Given the description of an element on the screen output the (x, y) to click on. 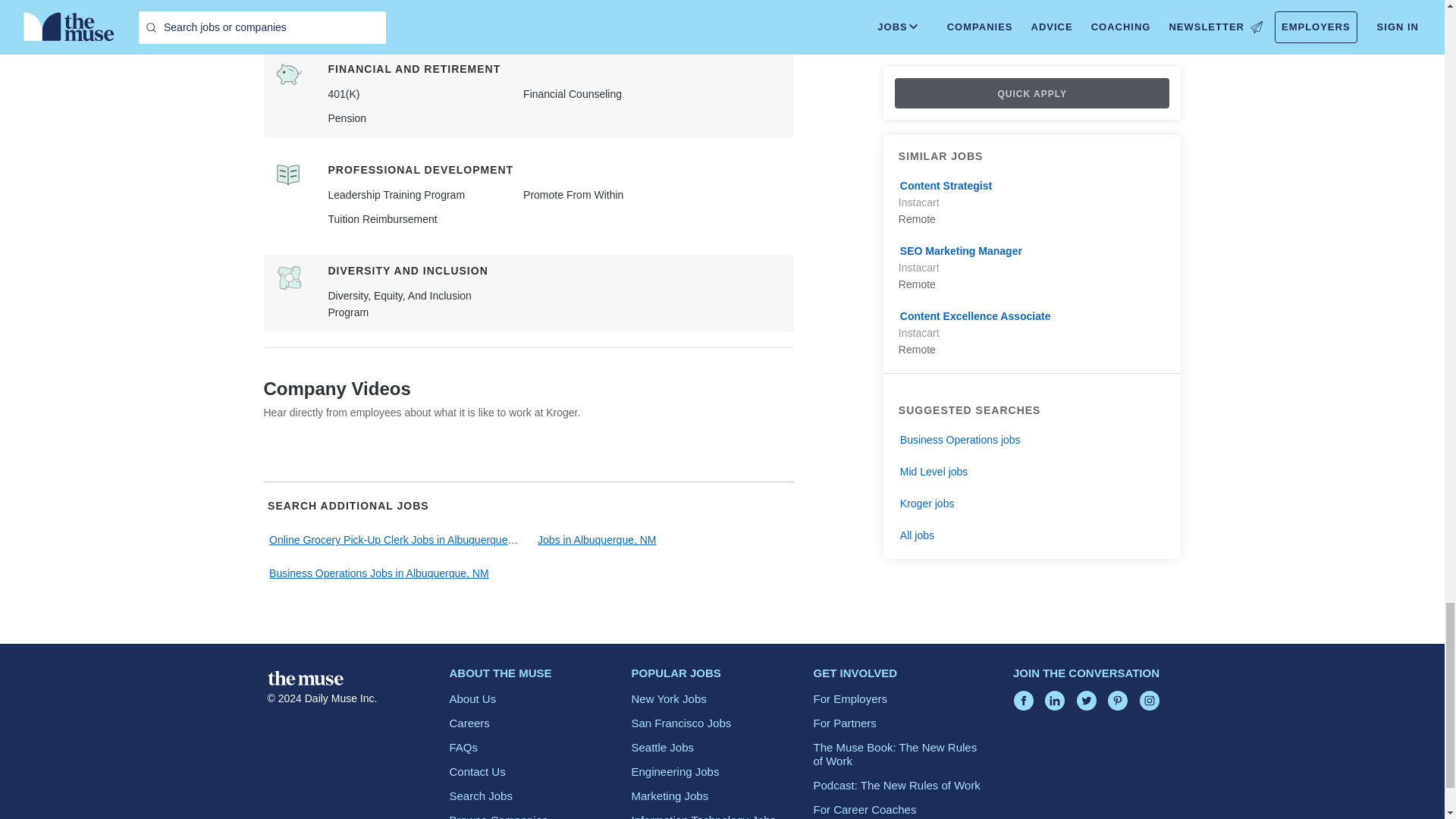
The Muse LogoA logo with "the muse" in white text. (304, 677)
